Given the description of an element on the screen output the (x, y) to click on. 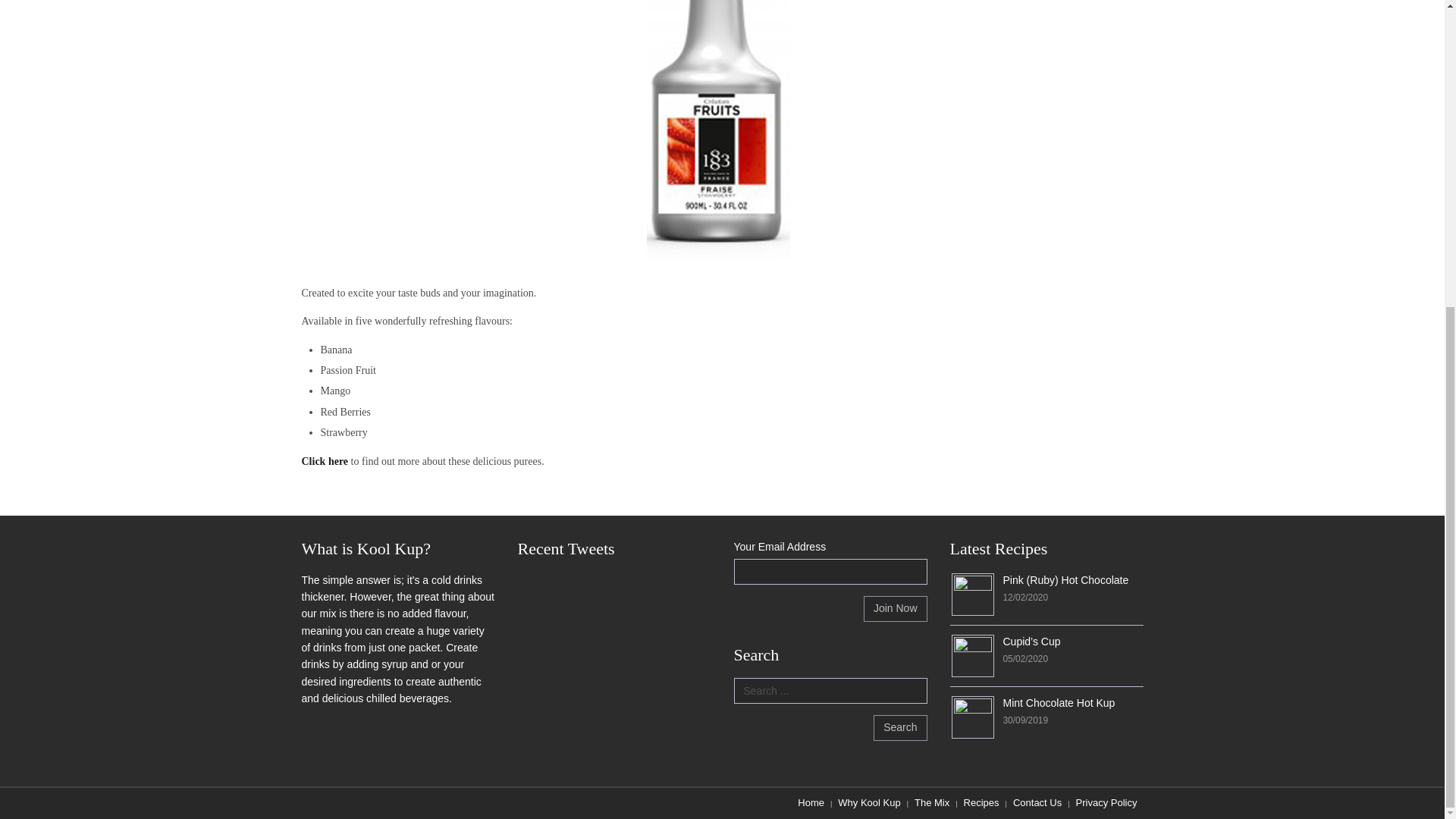
Join Now (895, 608)
Search (899, 727)
Join Now (895, 608)
Click here (325, 460)
Search (899, 727)
Permalink to Mint Chocolate Hot Kup (971, 715)
The Mix (931, 802)
Why Kool Kup (868, 802)
Home (810, 802)
Mint Chocolate Hot Kup (1059, 702)
